Given the description of an element on the screen output the (x, y) to click on. 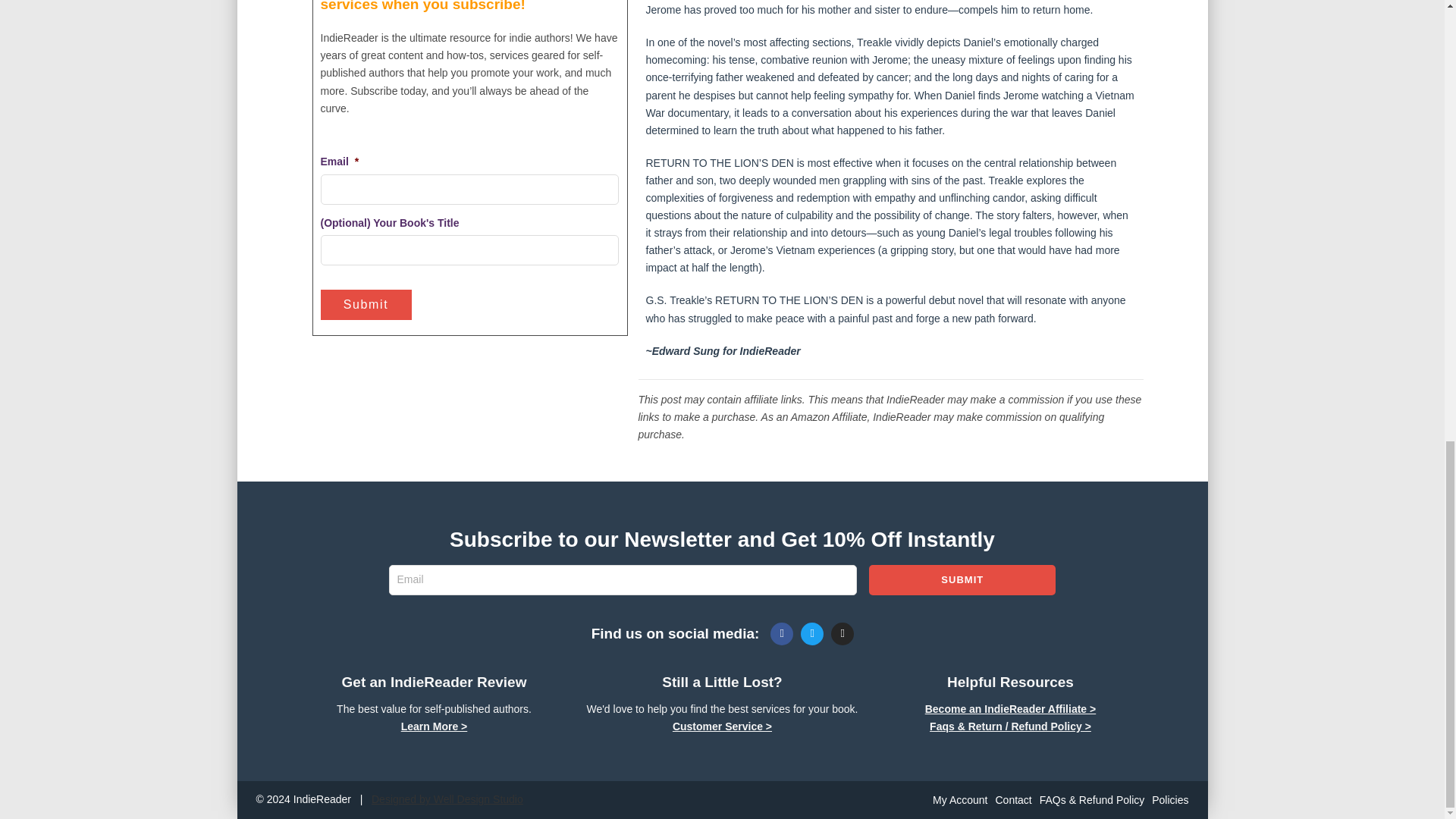
Submit (962, 580)
Submit (365, 304)
Submit (962, 580)
Submit (365, 304)
